Given the description of an element on the screen output the (x, y) to click on. 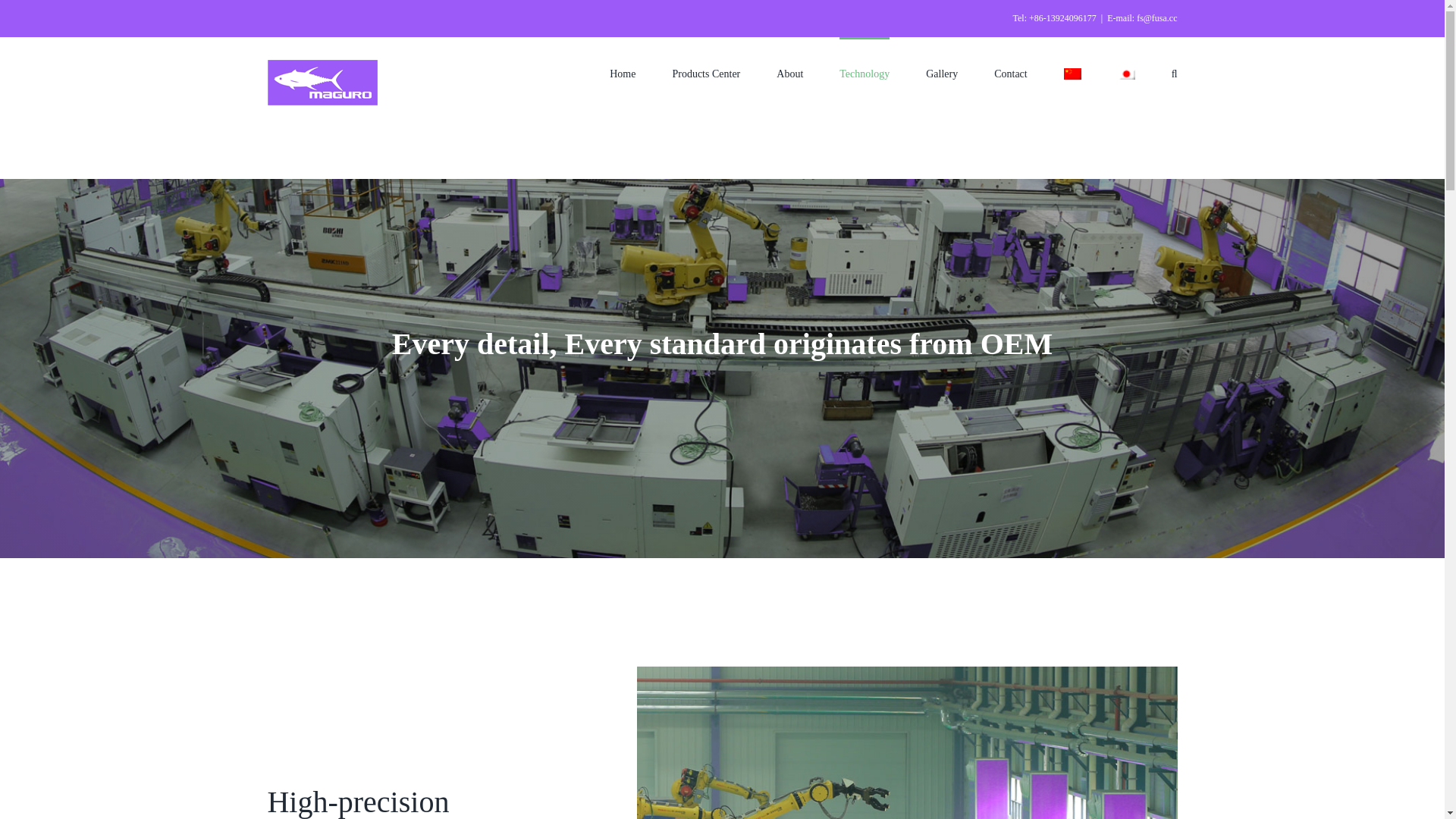
Technology (864, 72)
Gallery (942, 72)
Products Center (705, 72)
Contact (1010, 72)
Home (622, 72)
About (789, 72)
SM0A8026-1 (906, 742)
